Given the description of an element on the screen output the (x, y) to click on. 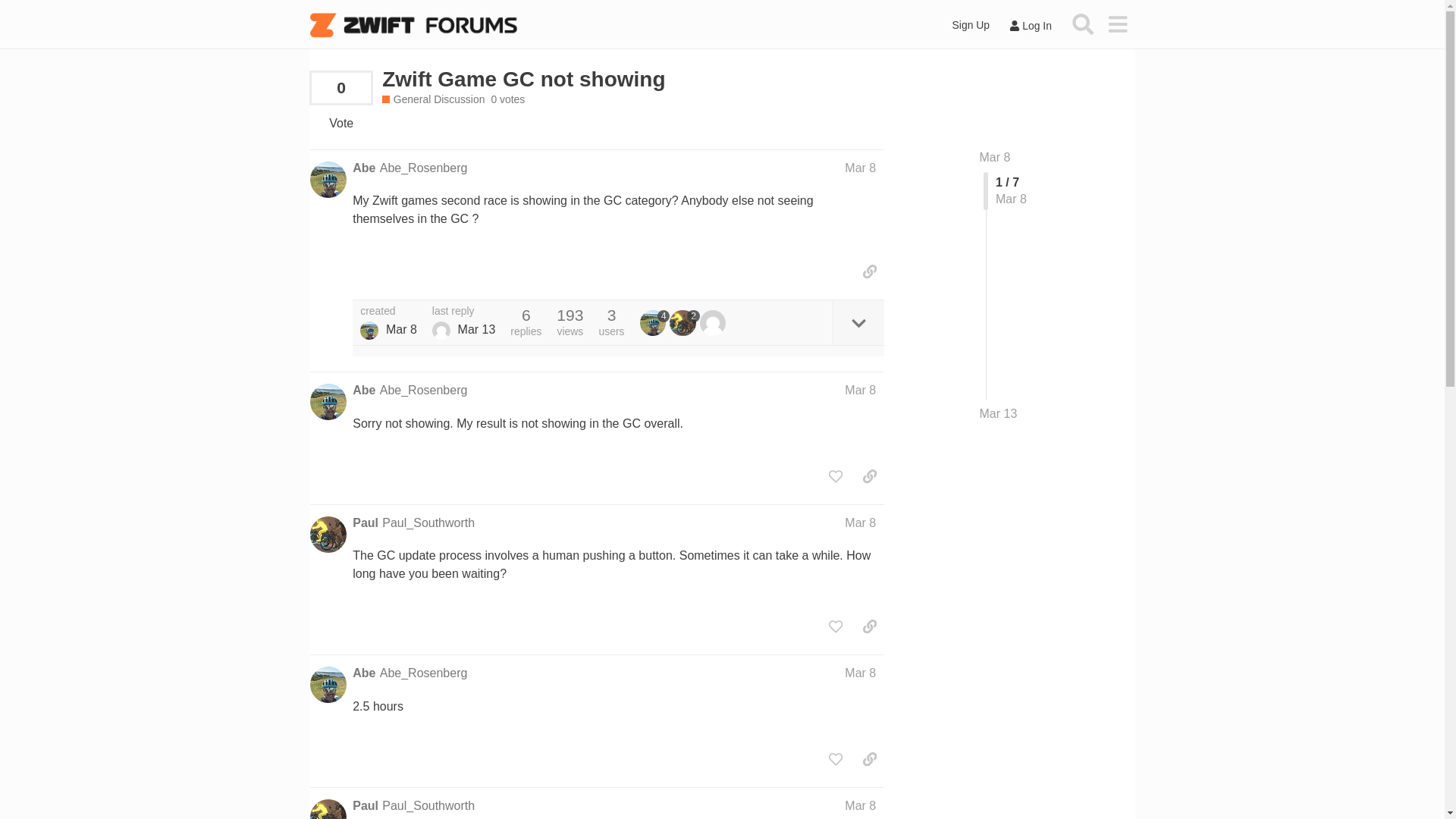
Zwift Game GC not showing (523, 78)
Juan L.  (440, 330)
Mar 8 (860, 522)
2 (684, 322)
4 (654, 322)
Mar 8 (860, 167)
0 votes (507, 99)
Sign Up (969, 25)
General Discussion (432, 99)
expand topic details (857, 322)
Vote (340, 123)
last reply (464, 311)
Abe (368, 330)
menu (1117, 23)
Log In (1030, 25)
